Given the description of an element on the screen output the (x, y) to click on. 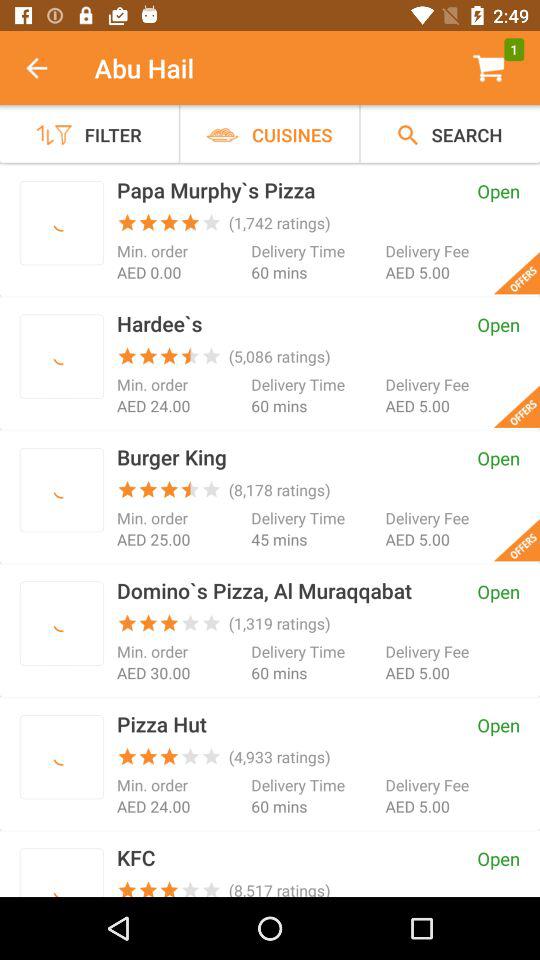
go back (47, 68)
